Given the description of an element on the screen output the (x, y) to click on. 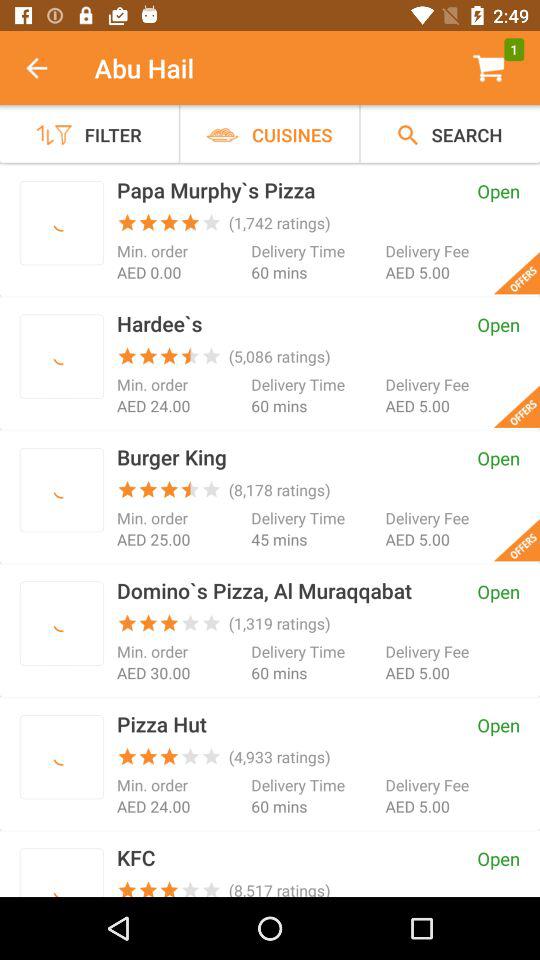
go back (47, 68)
